Given the description of an element on the screen output the (x, y) to click on. 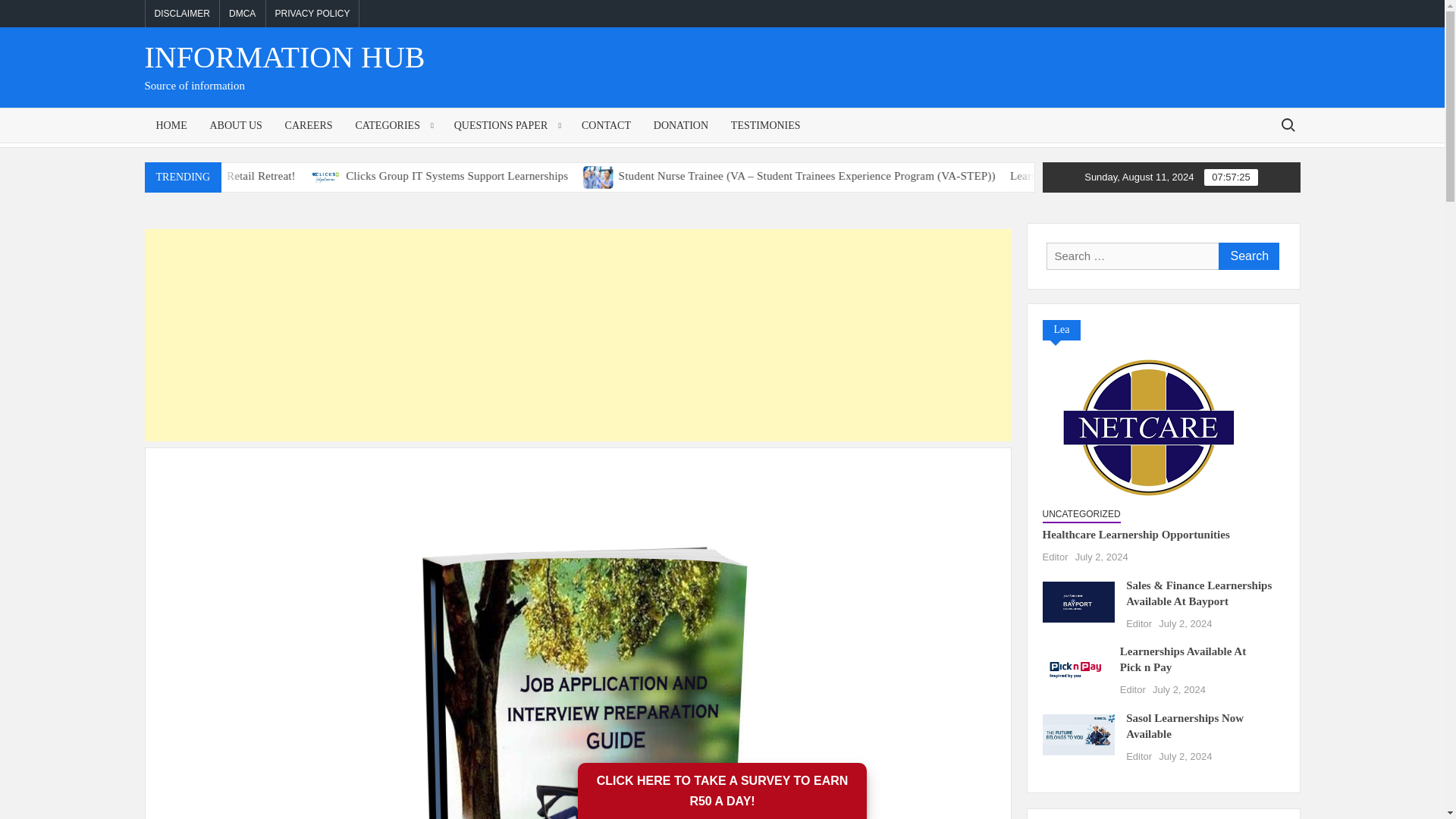
PRIVACY POLICY (312, 13)
Search (1247, 256)
CAREERS (308, 124)
Search (1247, 256)
DISCLAIMER (182, 13)
Clicks Group IT Systems Support Learnerships (595, 175)
Join Our Team at Retail Retreat! (275, 174)
Clicks Group IT Systems Support Learnerships (473, 174)
Join Our Team at Retail Retreat! (368, 175)
Healthcare Learnership Opportunities (157, 175)
